Given the description of an element on the screen output the (x, y) to click on. 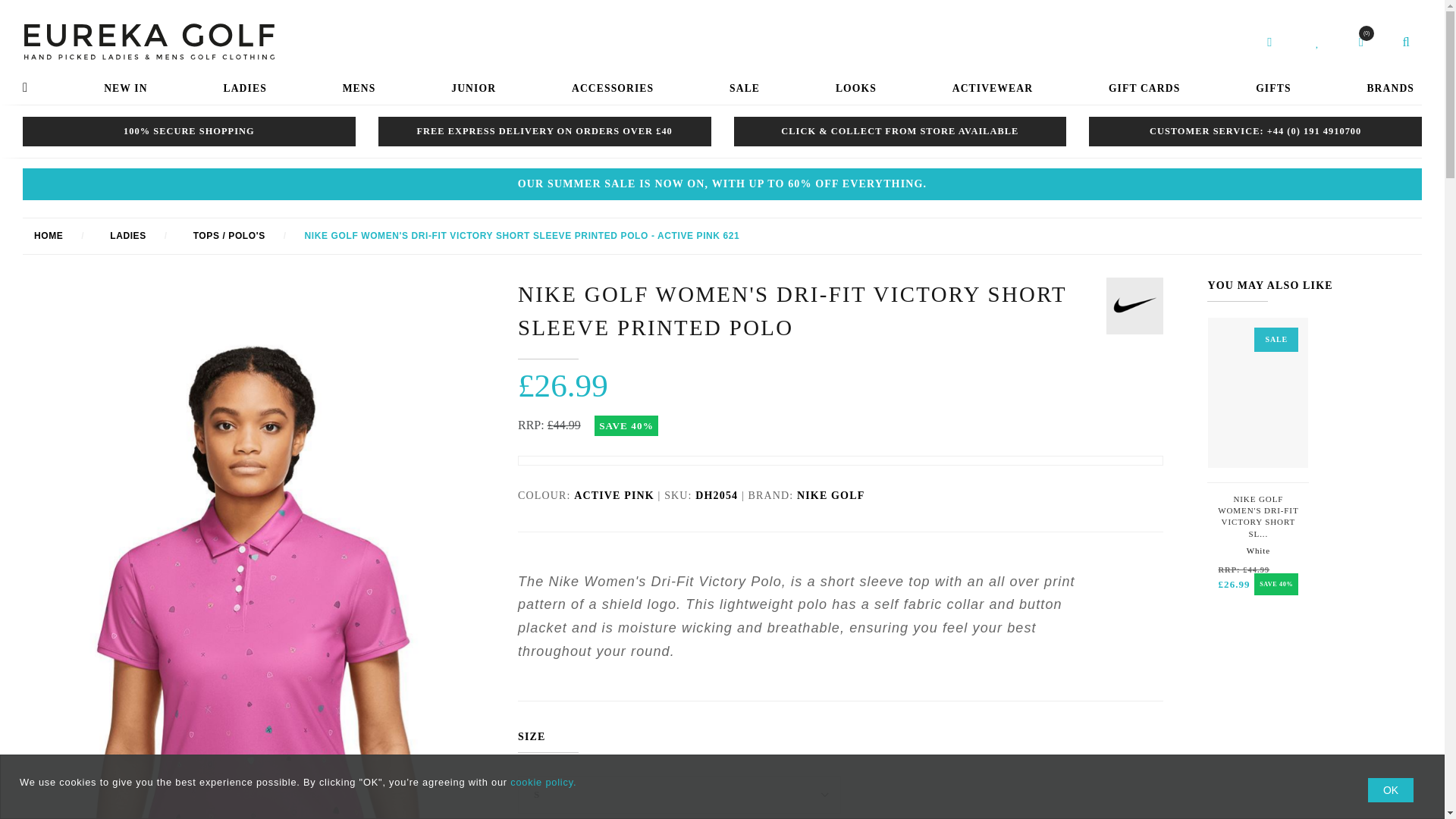
JUNIOR (473, 88)
Wishlist (1257, 516)
Cart (1317, 42)
View all Nike Golf products from Nike Golf (1361, 42)
NEW IN (830, 495)
Nike Golf (125, 88)
MENS (1134, 305)
LADIES (359, 88)
